Given the description of an element on the screen output the (x, y) to click on. 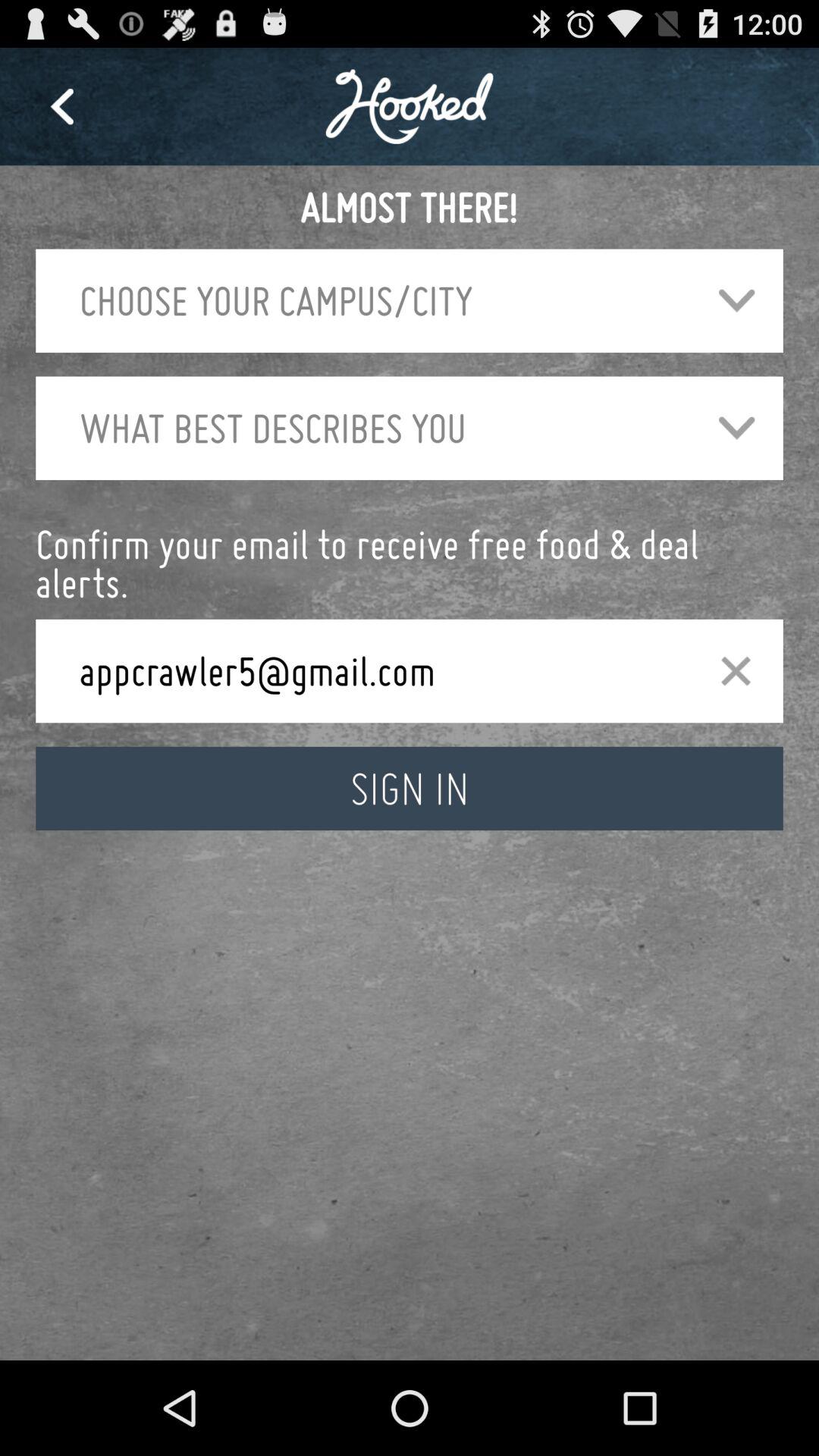
swipe to appcrawler5@gmail.com item (374, 670)
